Given the description of an element on the screen output the (x, y) to click on. 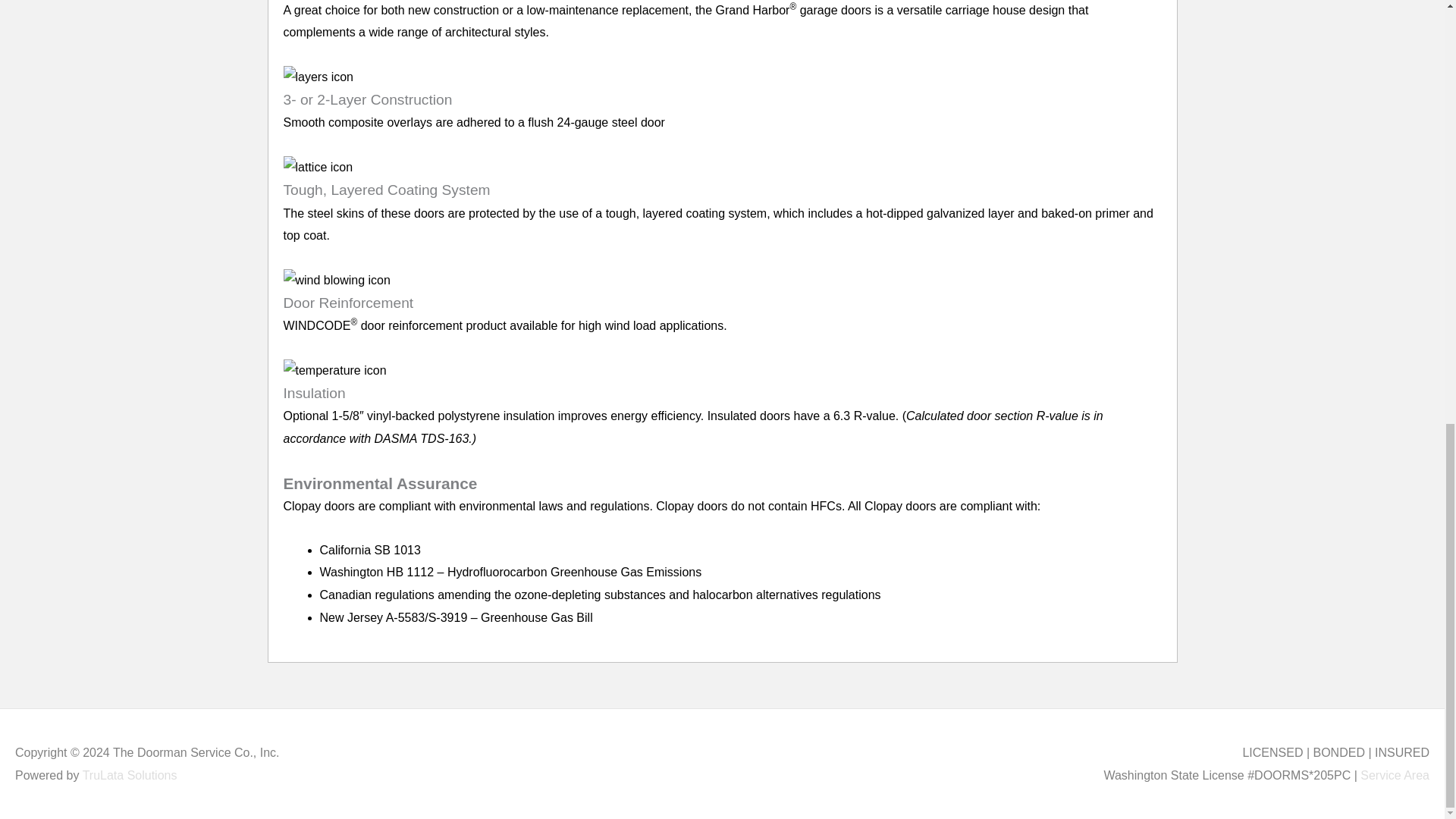
TruLata Solutions (129, 775)
Service Area (1394, 775)
